Given the description of an element on the screen output the (x, y) to click on. 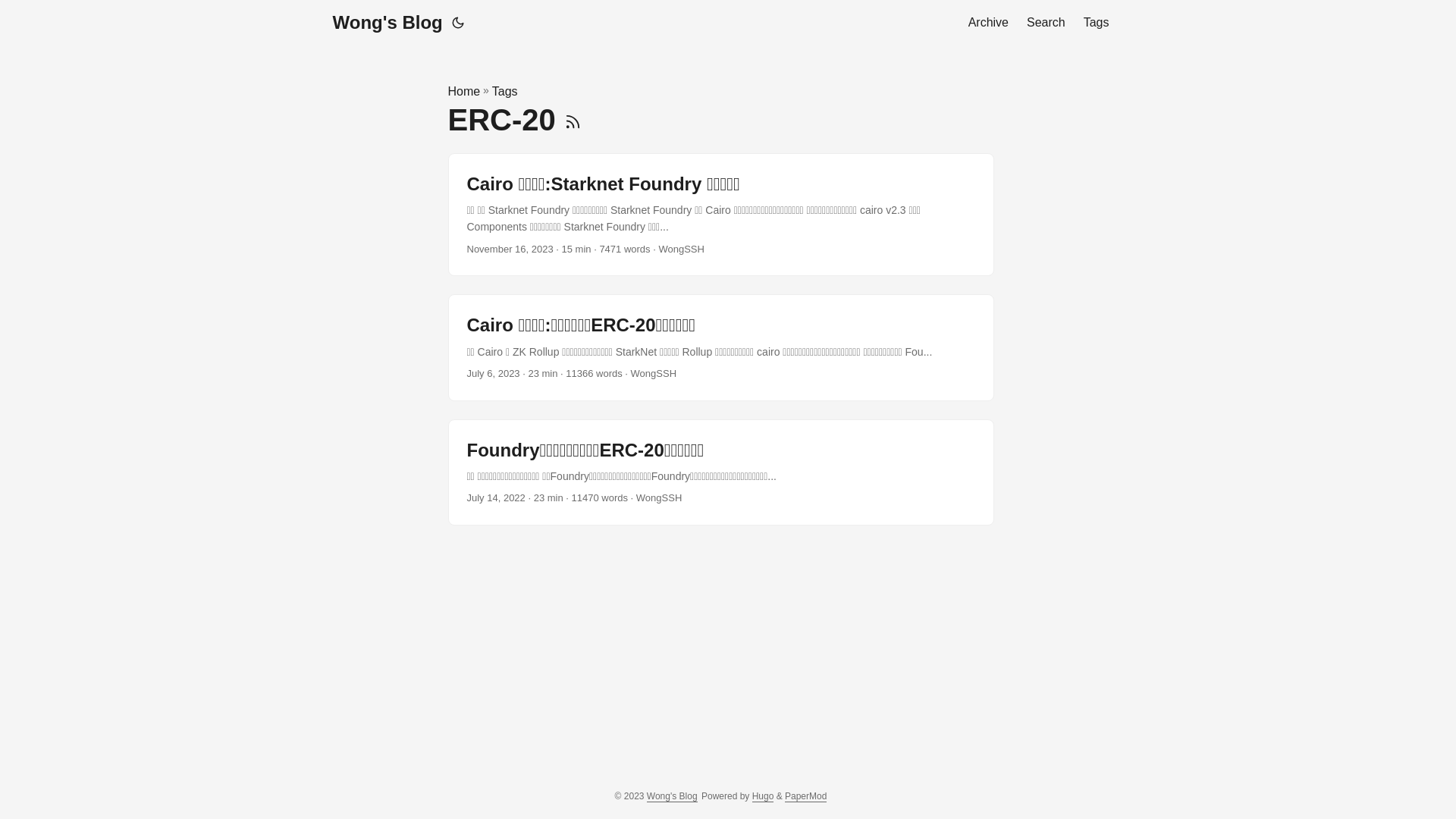
Home Element type: text (463, 91)
Search Element type: text (1045, 22)
RSS Element type: hover (572, 119)
(Alt + T) Element type: hover (457, 22)
Tags Element type: text (1096, 22)
Tags Element type: text (504, 91)
PaperMod Element type: text (805, 796)
Wong's Blog Element type: text (387, 22)
Archive Element type: text (988, 22)
Wong's Blog Element type: text (671, 796)
Hugo Element type: text (763, 796)
